Given the description of an element on the screen output the (x, y) to click on. 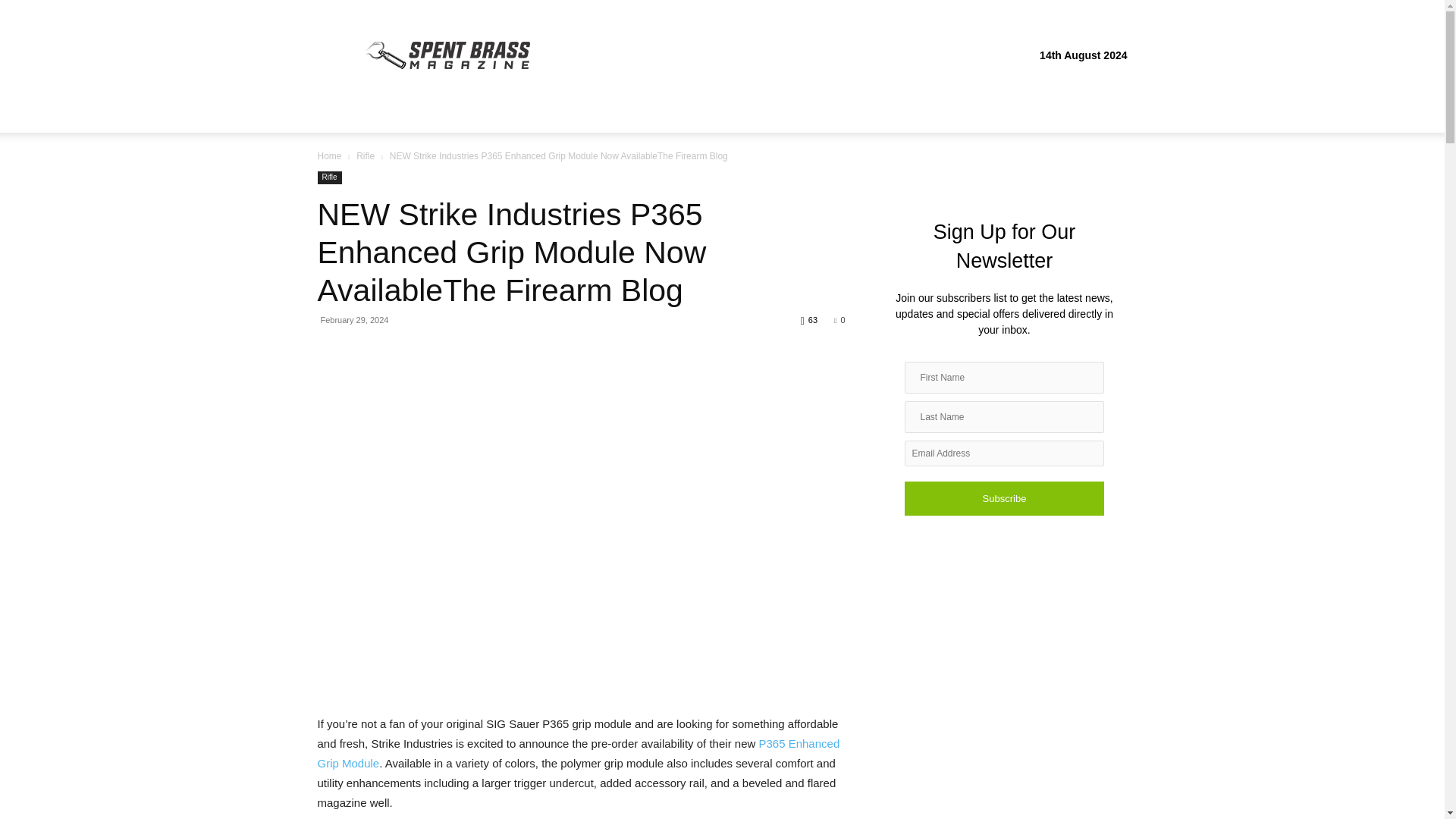
NEWS (585, 114)
RIFLE (395, 114)
SURVIVAL (521, 114)
Rifle (328, 177)
SAFETY (453, 114)
P365 Enhanced Grip Module (578, 753)
Home (328, 155)
0 (839, 319)
Rifle (365, 155)
Search (1085, 174)
